Given the description of an element on the screen output the (x, y) to click on. 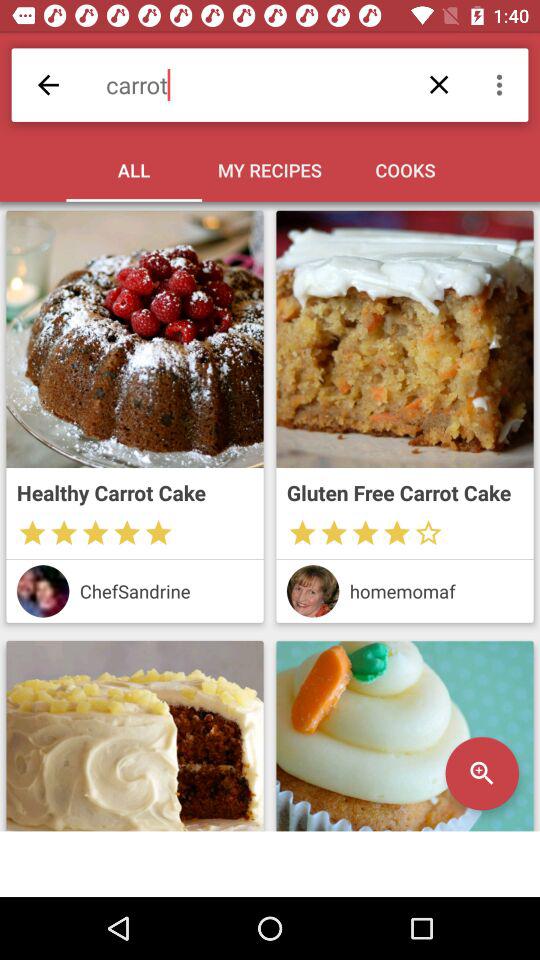
magnifier (404, 735)
